Given the description of an element on the screen output the (x, y) to click on. 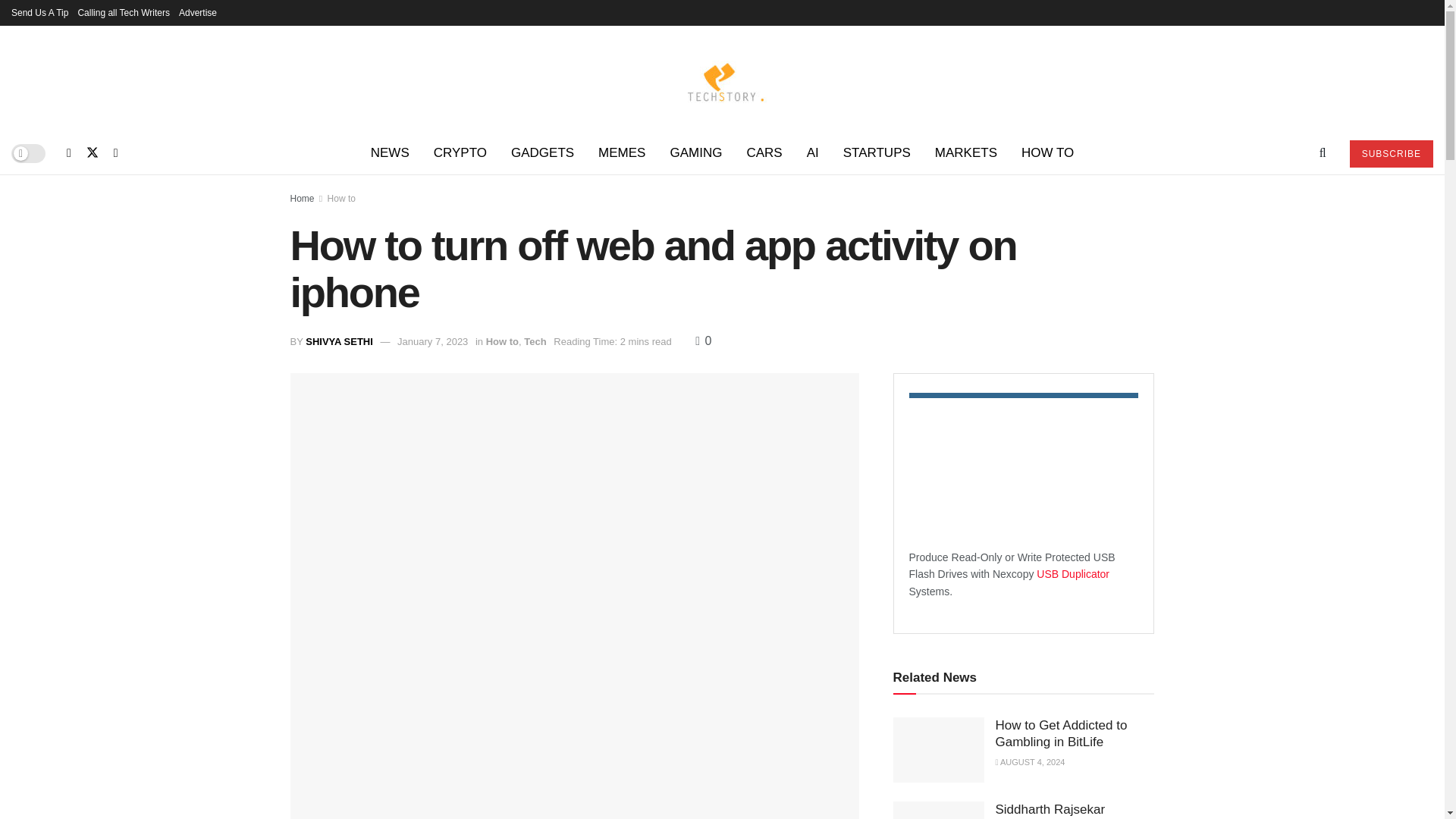
Advertise (197, 12)
NEWS (390, 152)
USB duplicator (1072, 573)
STARTUPS (877, 152)
MARKETS (966, 152)
Home (301, 198)
HOW TO (1047, 152)
GAMING (695, 152)
CARS (763, 152)
Send Us A Tip (39, 12)
